Given the description of an element on the screen output the (x, y) to click on. 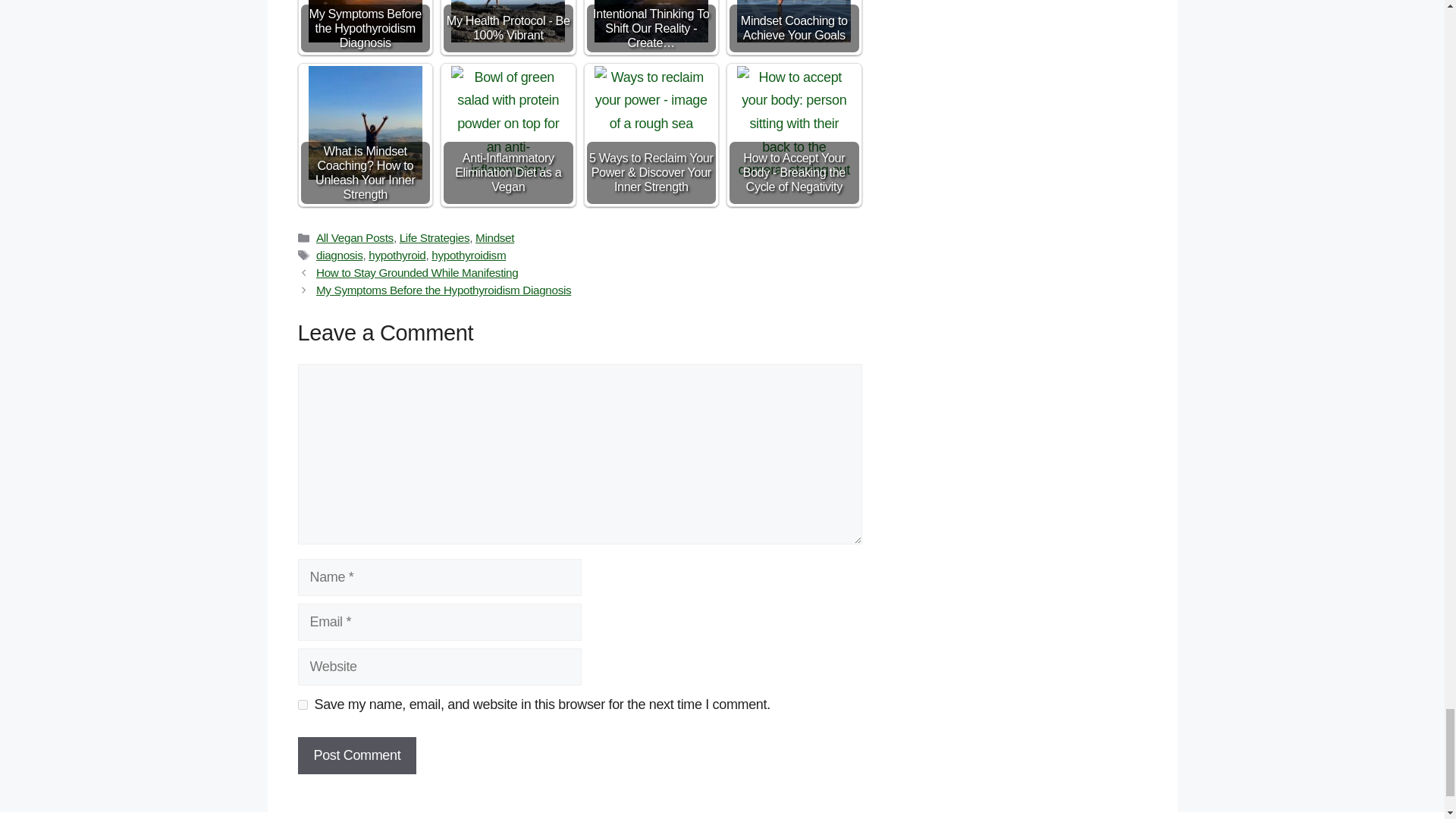
Anti-Inflammatory Elimination Diet as a Vegan (507, 122)
Mindset Coaching to Achieve Your Goals (793, 21)
Post Comment (356, 755)
My Symptoms Before the Hypothyroidism Diagnosis (365, 21)
yes (302, 705)
How to Accept Your Body - Breaking the Cycle of Negativity (793, 122)
What is Mindset Coaching? How to Unleash Your Inner Strength (365, 122)
